Given the description of an element on the screen output the (x, y) to click on. 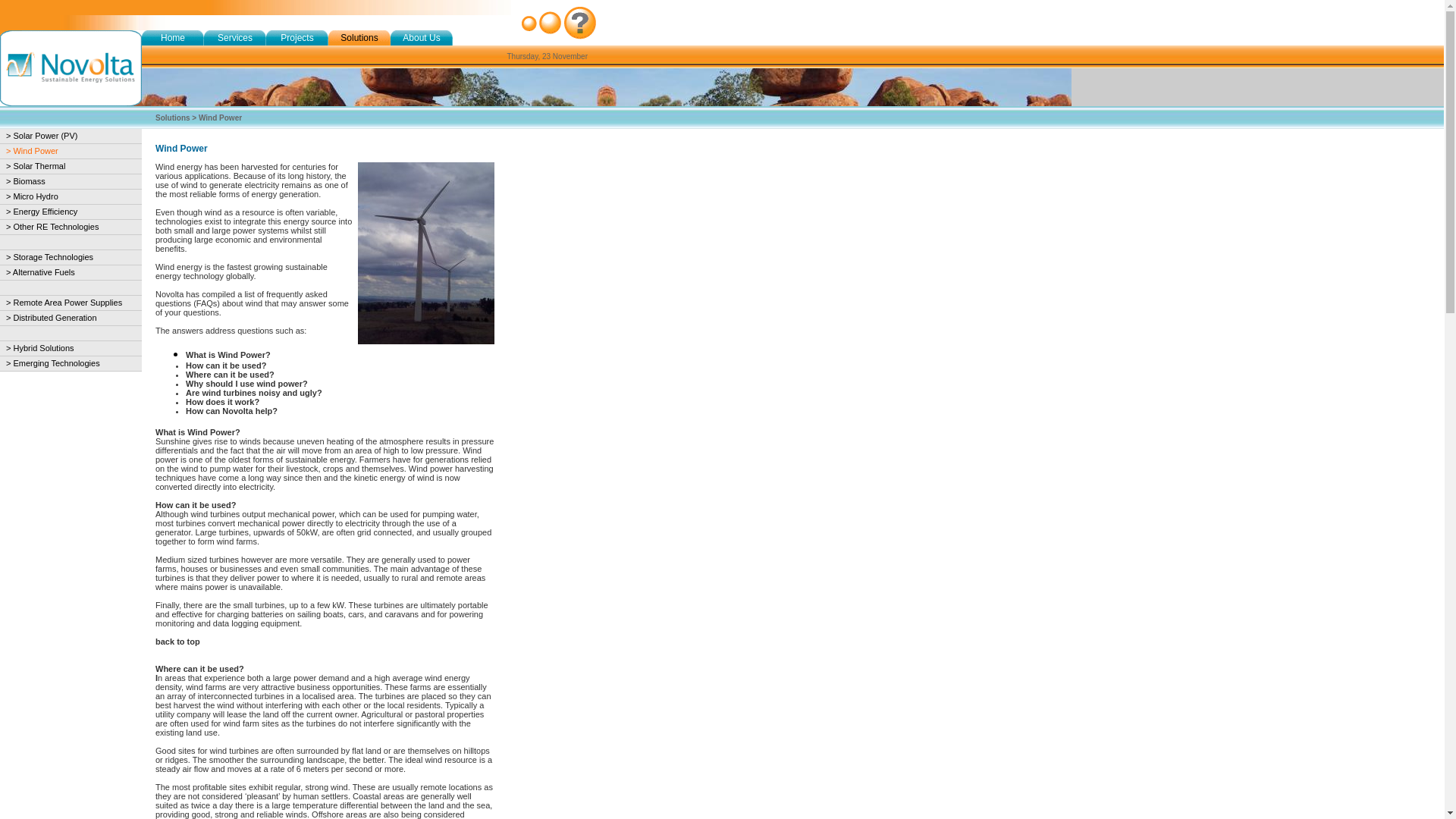
What is Wind Power? Element type: text (227, 354)
> Micro Hydro Element type: text (32, 195)
About Us Element type: text (420, 37)
> Biomass Element type: text (25, 180)
Home Element type: text (172, 37)
> Other RE Technologies Element type: text (52, 226)
Why should I use wind power? Element type: text (246, 383)
> Wind Power Element type: text (32, 150)
Where can it be used? Element type: text (229, 374)
> Remote Area Power Supplies Element type: text (64, 302)
> Hybrid Solutions Element type: text (40, 347)
> Emerging Technologies Element type: text (53, 362)
> Storage Technologies Element type: text (49, 256)
> Energy Efficiency Element type: text (41, 211)
back to top Element type: text (177, 641)
> Solar Thermal Element type: text (35, 165)
Solutions Element type: text (172, 117)
Are wind turbines noisy and ugly? Element type: text (253, 392)
> Alternative Fuels Element type: text (40, 271)
> Solar Power (PV) Element type: text (41, 135)
Solutions Element type: text (358, 37)
Wind Power Element type: text (219, 117)
How can it be used? Element type: text (225, 365)
> Distributed Generation Element type: text (51, 317)
Projects Element type: text (296, 37)
How does it work? Element type: text (222, 401)
Services Element type: text (234, 37)
How can Novolta help? Element type: text (231, 410)
